Given the description of an element on the screen output the (x, y) to click on. 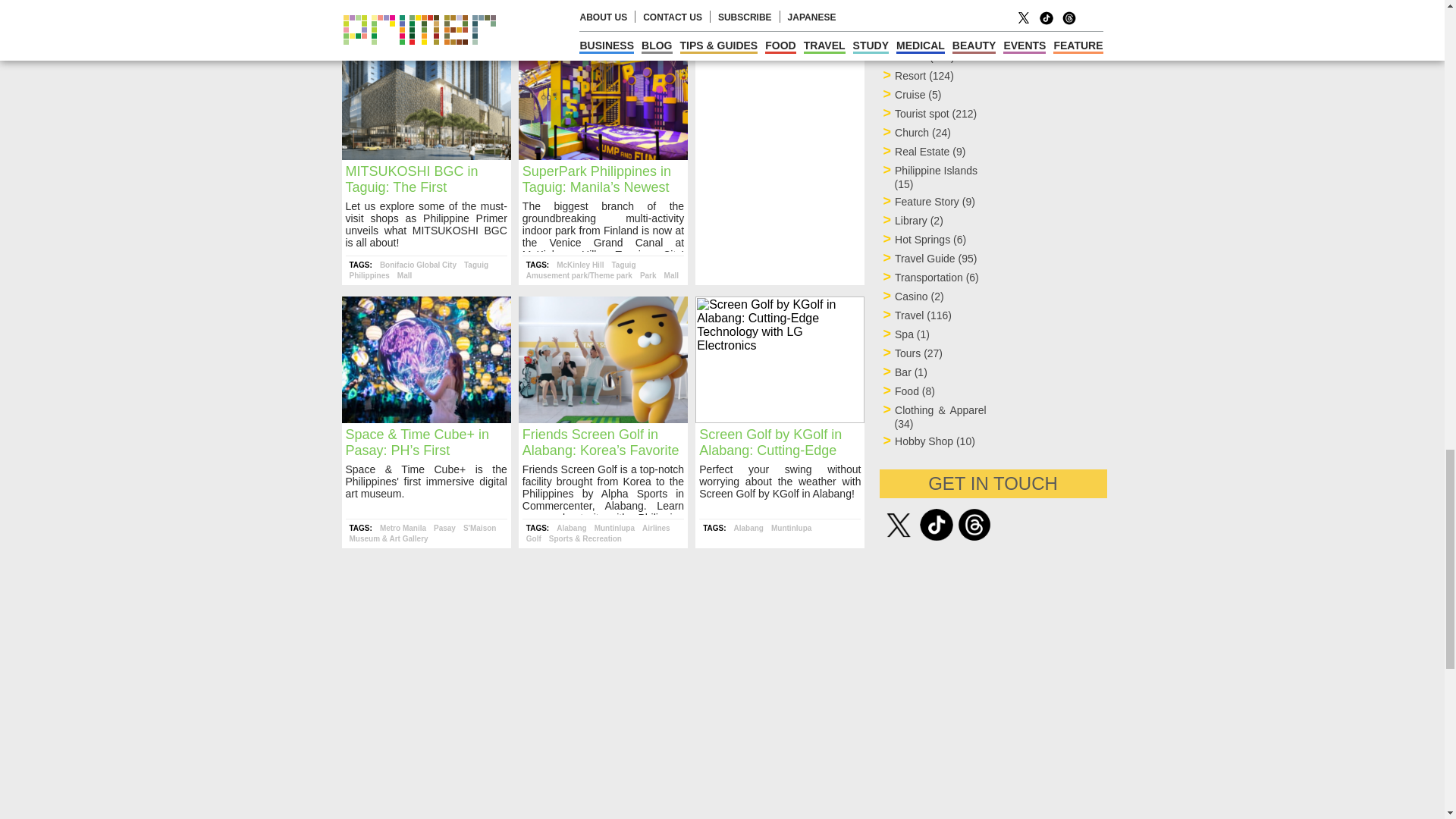
Bonifacio Global City (418, 265)
Mall (404, 275)
Philippines (368, 275)
Taguig (475, 265)
